Given the description of an element on the screen output the (x, y) to click on. 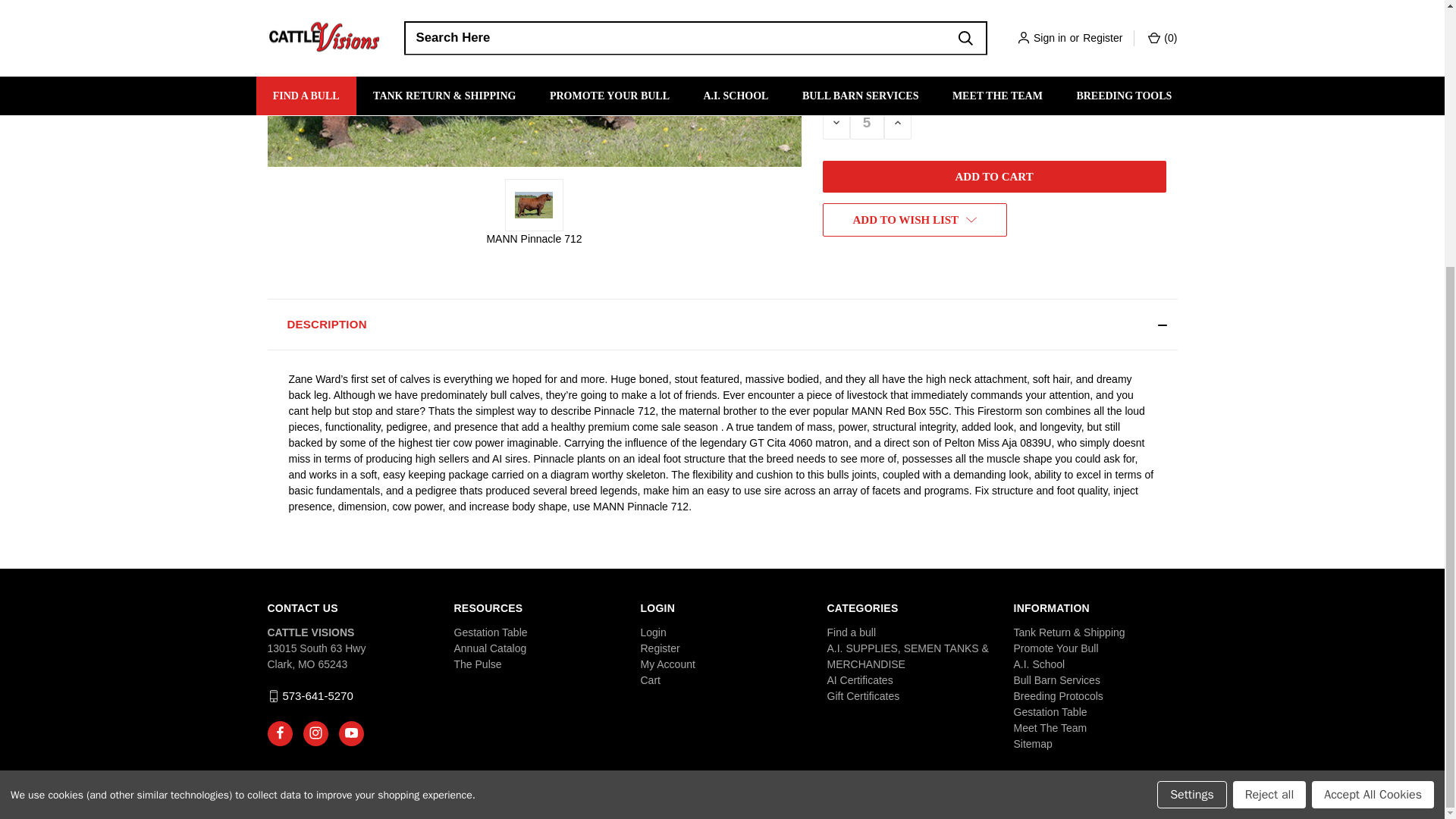
Add to Cart (994, 176)
MANN Pinnacle 712 (533, 83)
MANN Pinnacle 712 (534, 204)
5 (865, 122)
